Given the description of an element on the screen output the (x, y) to click on. 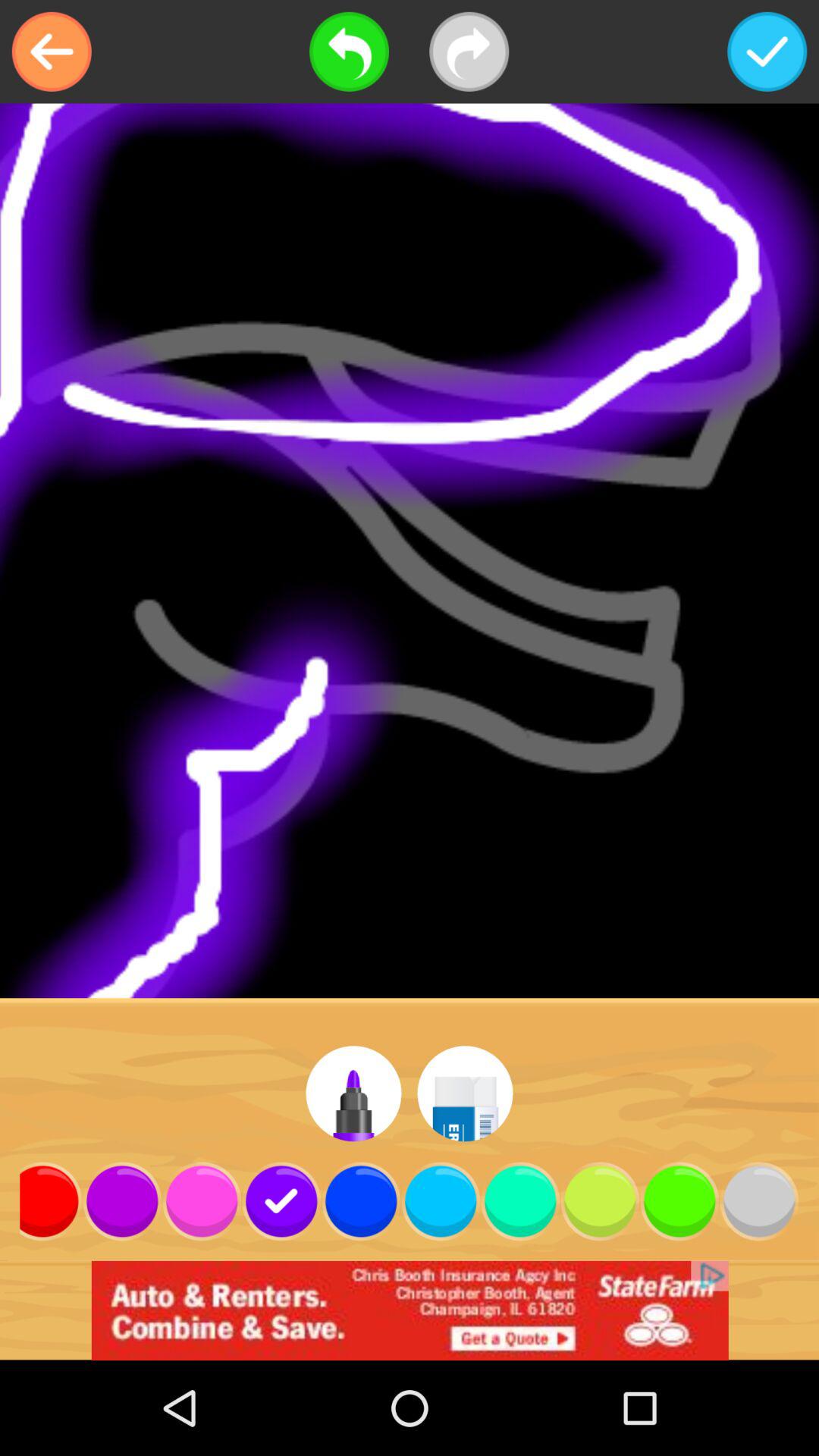
advertisement content (409, 1310)
